Given the description of an element on the screen output the (x, y) to click on. 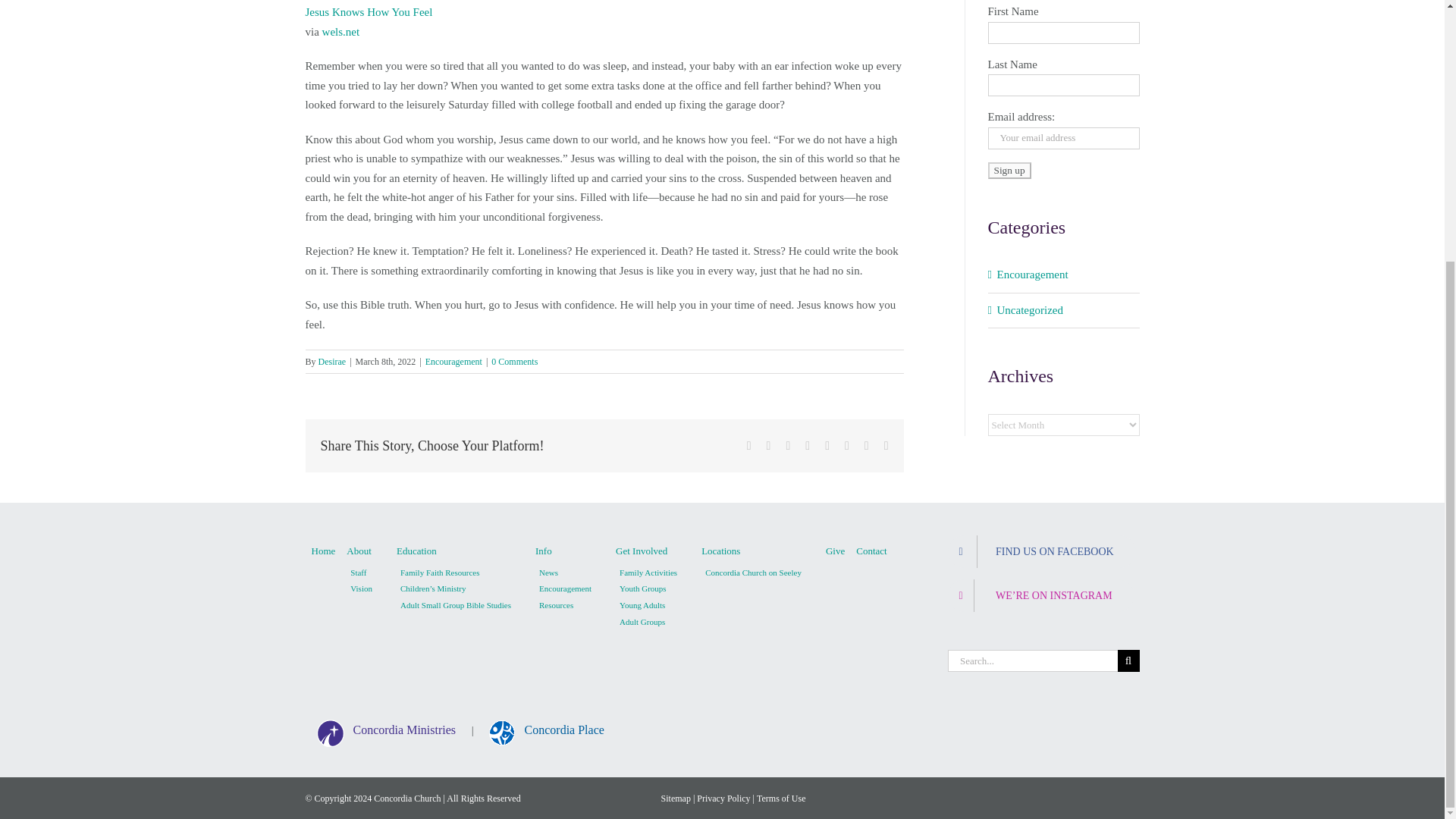
0 Comments (514, 361)
Encouragement (453, 361)
Sign up (1008, 170)
Posts by Desirae (332, 361)
wels.net (340, 31)
Desirae (332, 361)
Jesus Knows How You Feel (368, 11)
